Given the description of an element on the screen output the (x, y) to click on. 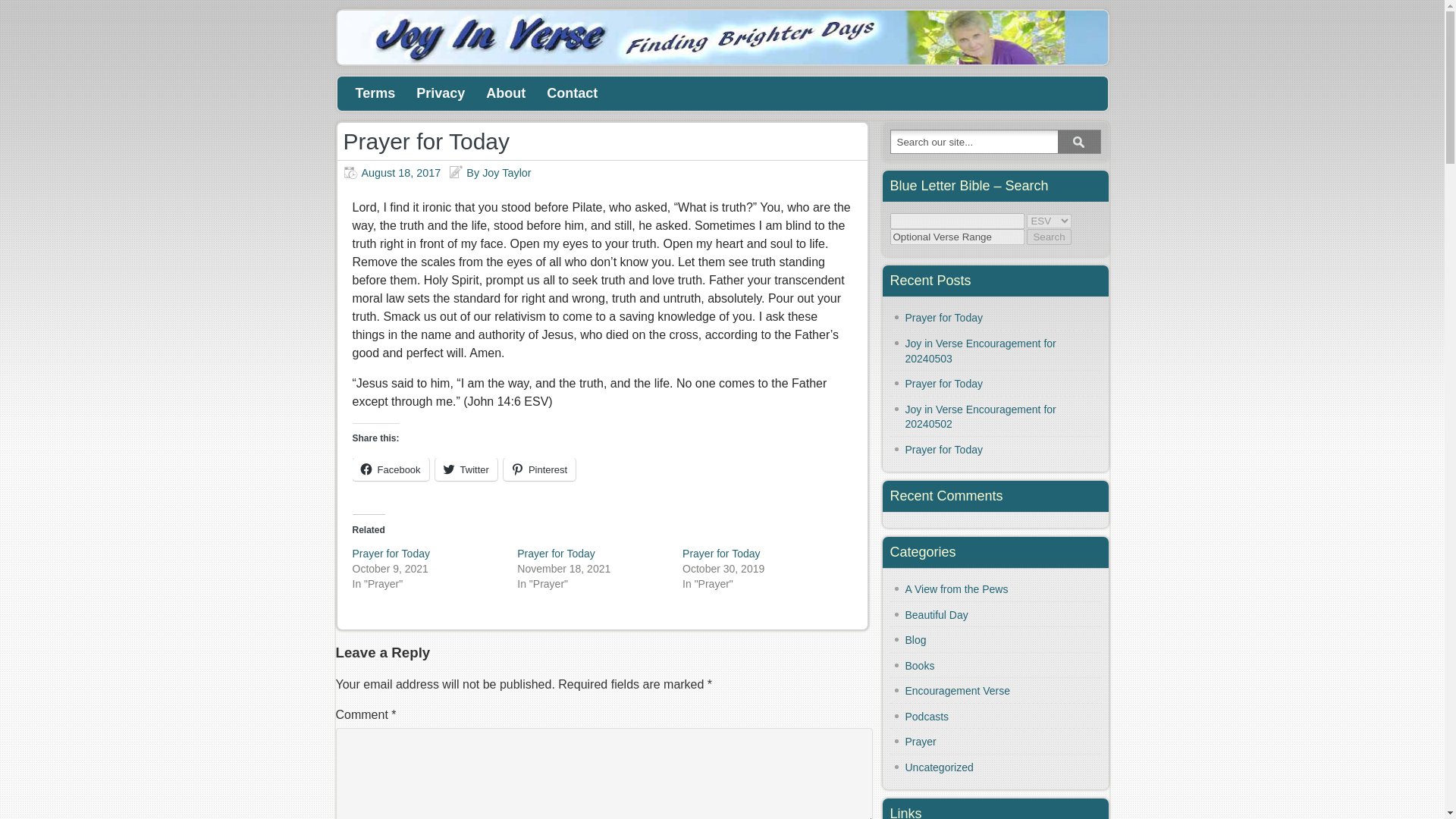
Search (1048, 236)
About (505, 93)
Pinterest (539, 468)
Facebook (390, 468)
Joy in Verse Encouragement for 20240502 (981, 416)
Twitter (466, 468)
Encouragement Verse (957, 690)
Beautiful Day (936, 613)
Click to share on Facebook (390, 468)
Joy in Verse Encouragement for 20240503 (981, 350)
Prayer for Today (943, 383)
Books (919, 665)
Prayer for Today (555, 553)
Click to share on Pinterest (539, 468)
